Given the description of an element on the screen output the (x, y) to click on. 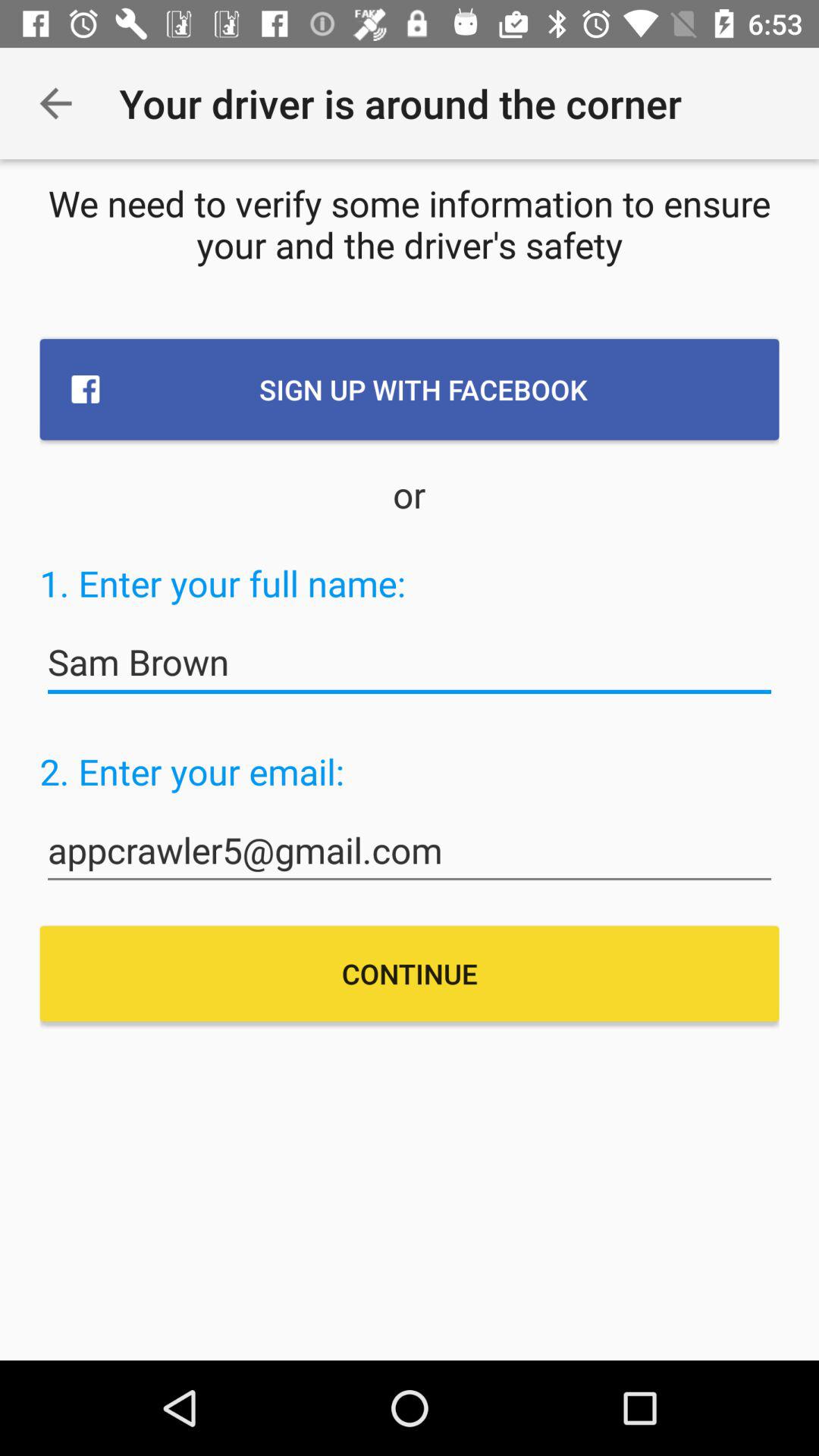
click icon at the top left corner (55, 103)
